Given the description of an element on the screen output the (x, y) to click on. 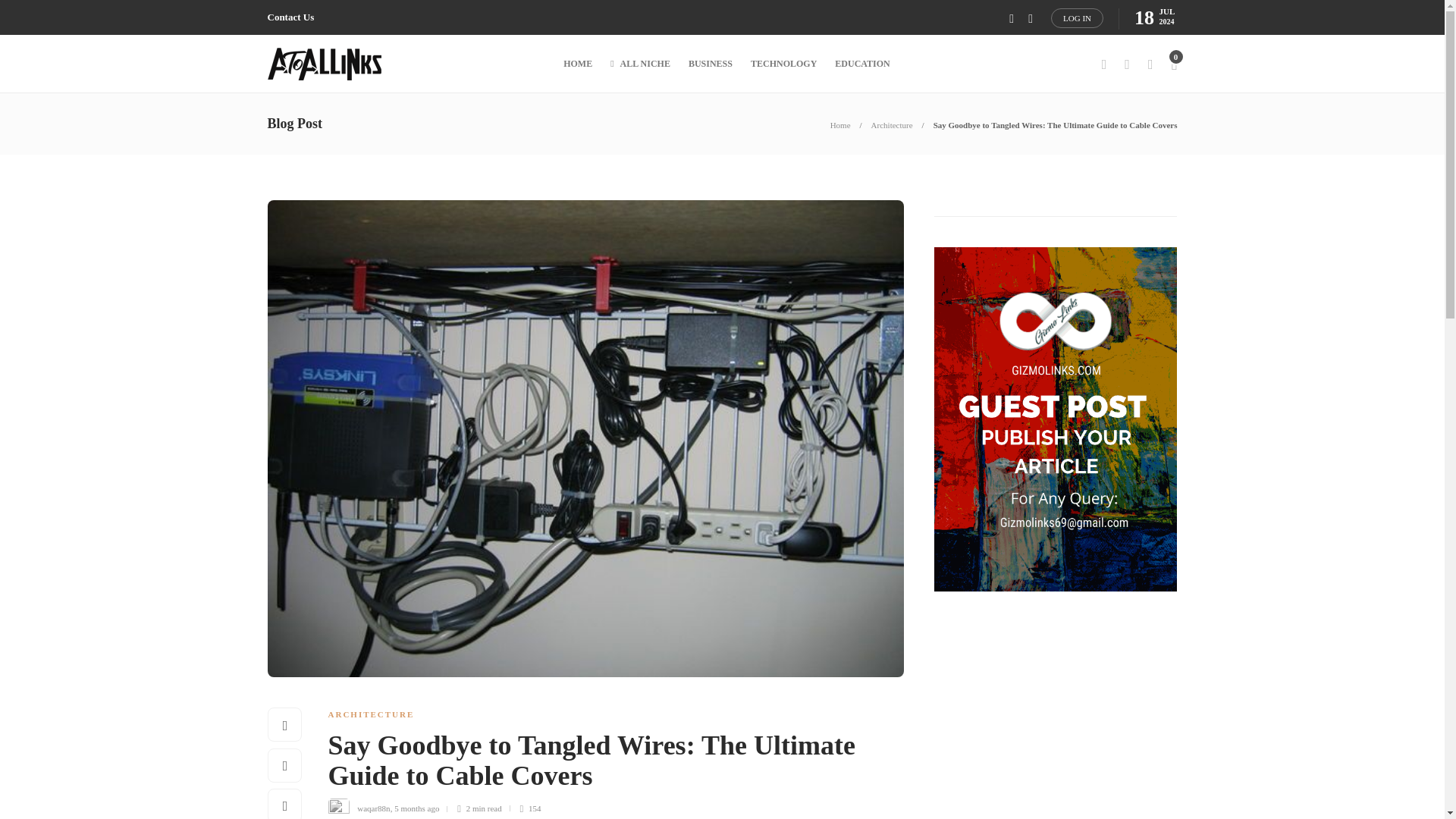
EDUCATION (861, 63)
waqar88n (373, 808)
Home (839, 124)
Architecture (891, 124)
Home (839, 124)
Contact Us (290, 17)
ALL NICHE (639, 63)
TECHNOLOGY (783, 63)
ARCHITECTURE (370, 714)
LOG IN (1077, 17)
